Given the description of an element on the screen output the (x, y) to click on. 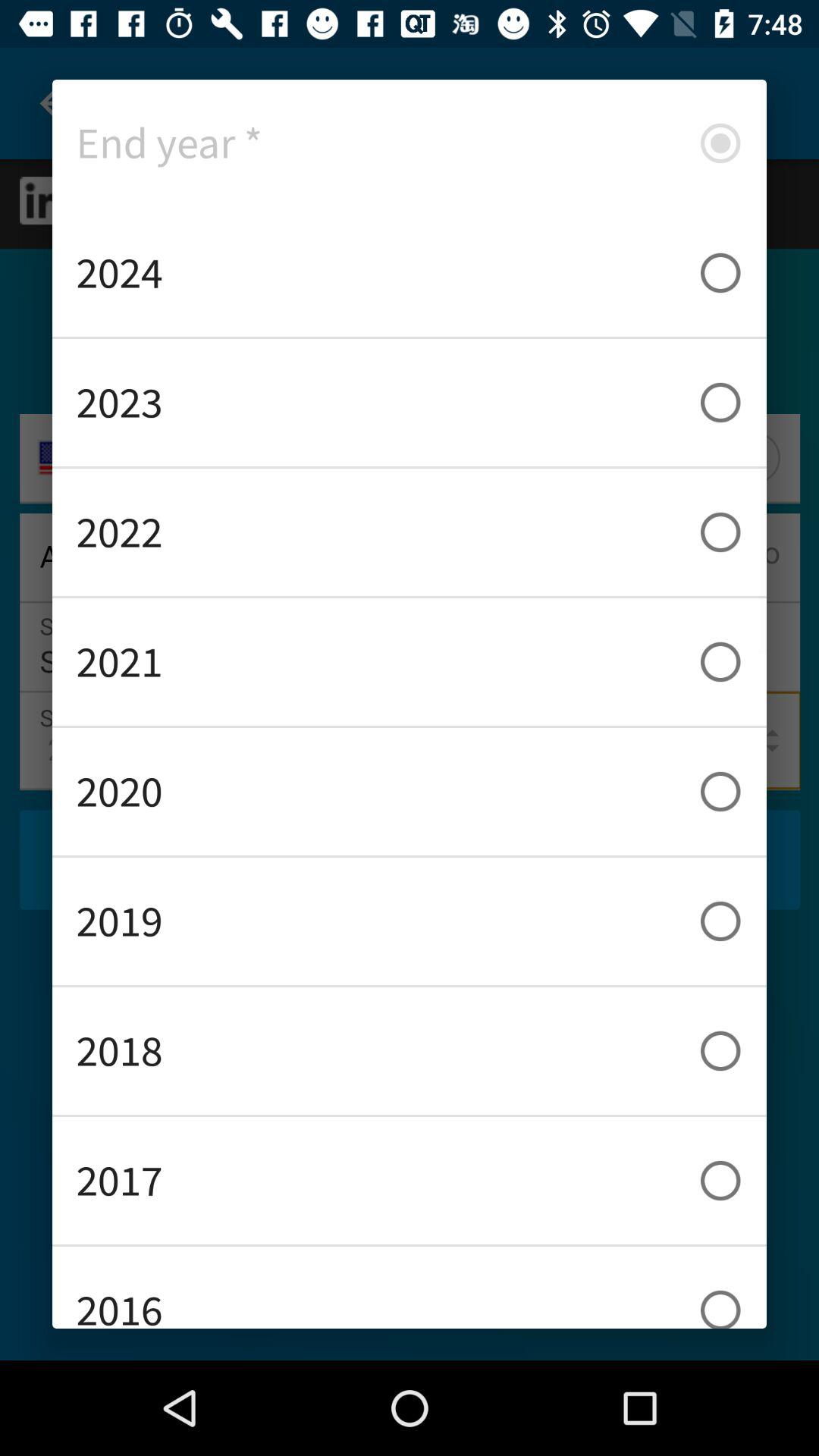
swipe to the end year * (409, 143)
